Given the description of an element on the screen output the (x, y) to click on. 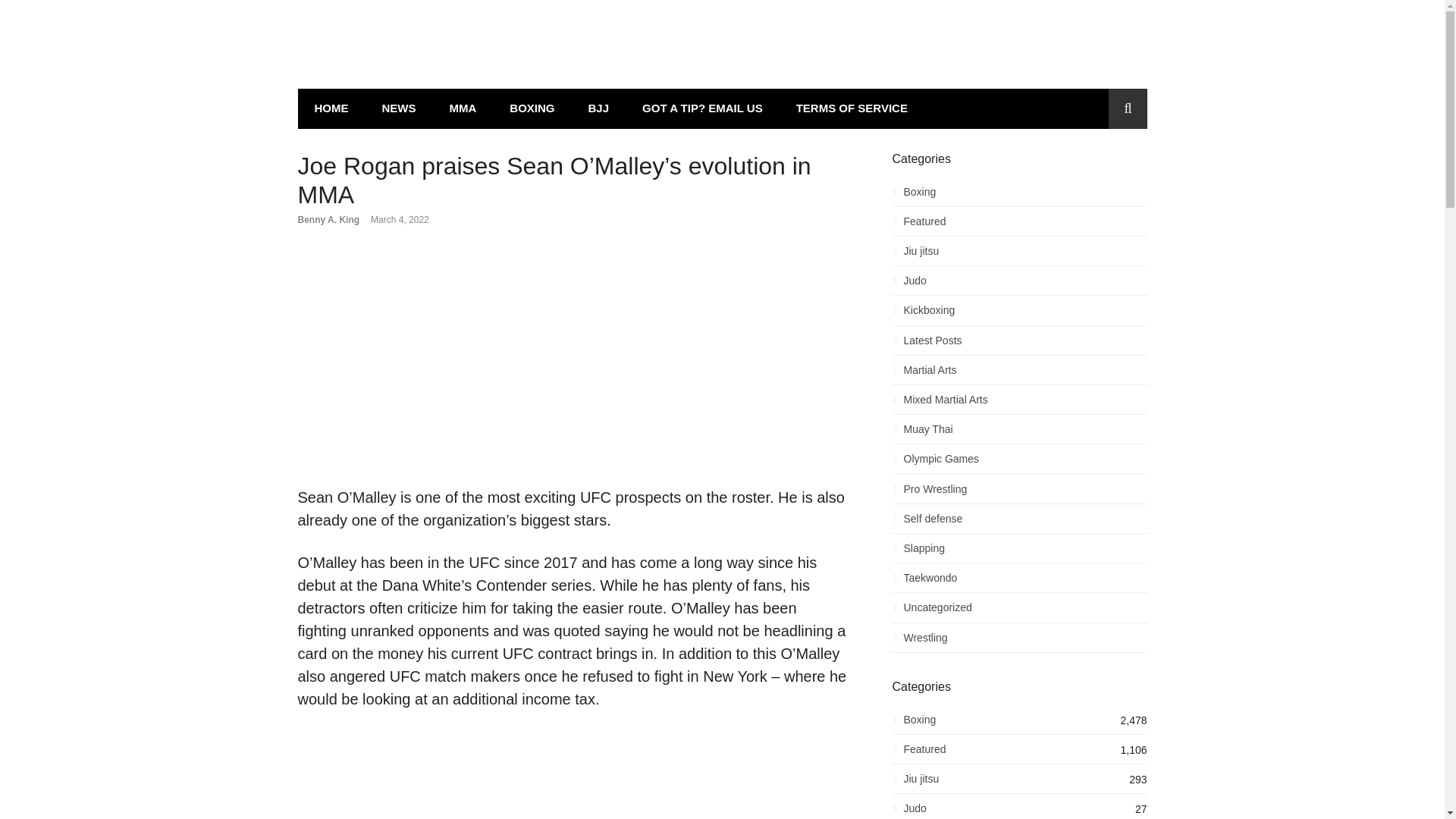
Boxing (1019, 196)
Latest Posts (1019, 344)
Mixed Martial Arts (1019, 403)
HOME (331, 108)
Martial Arts (1019, 373)
TERMS OF SERVICE (851, 108)
GOT A TIP? EMAIL US (702, 108)
MMA (462, 108)
Featured (1019, 225)
Benny A. King (328, 219)
